Given the description of an element on the screen output the (x, y) to click on. 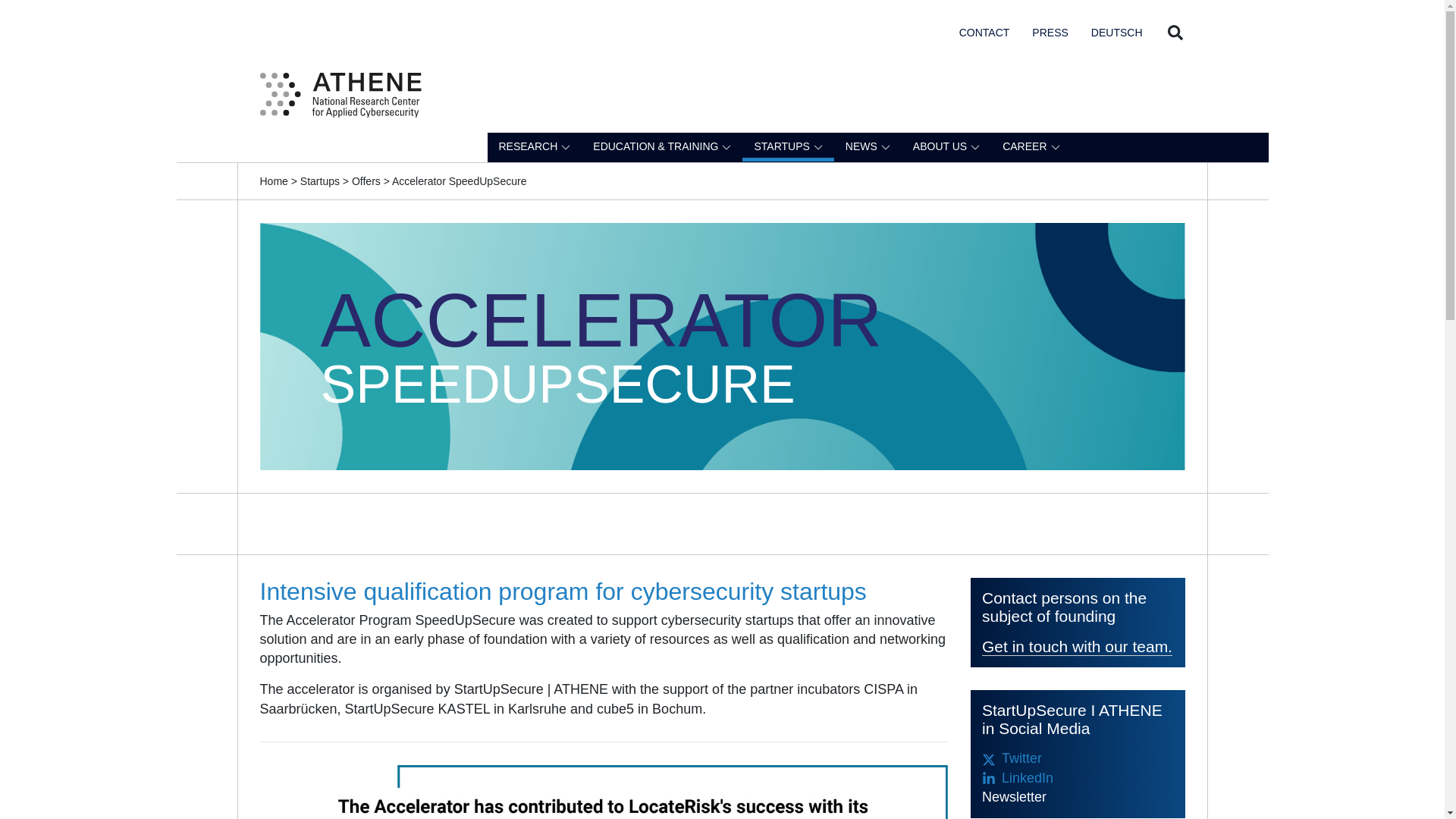
CONTACT (984, 31)
PRESS (1049, 31)
DEUTSCH (1116, 31)
